Given the description of an element on the screen output the (x, y) to click on. 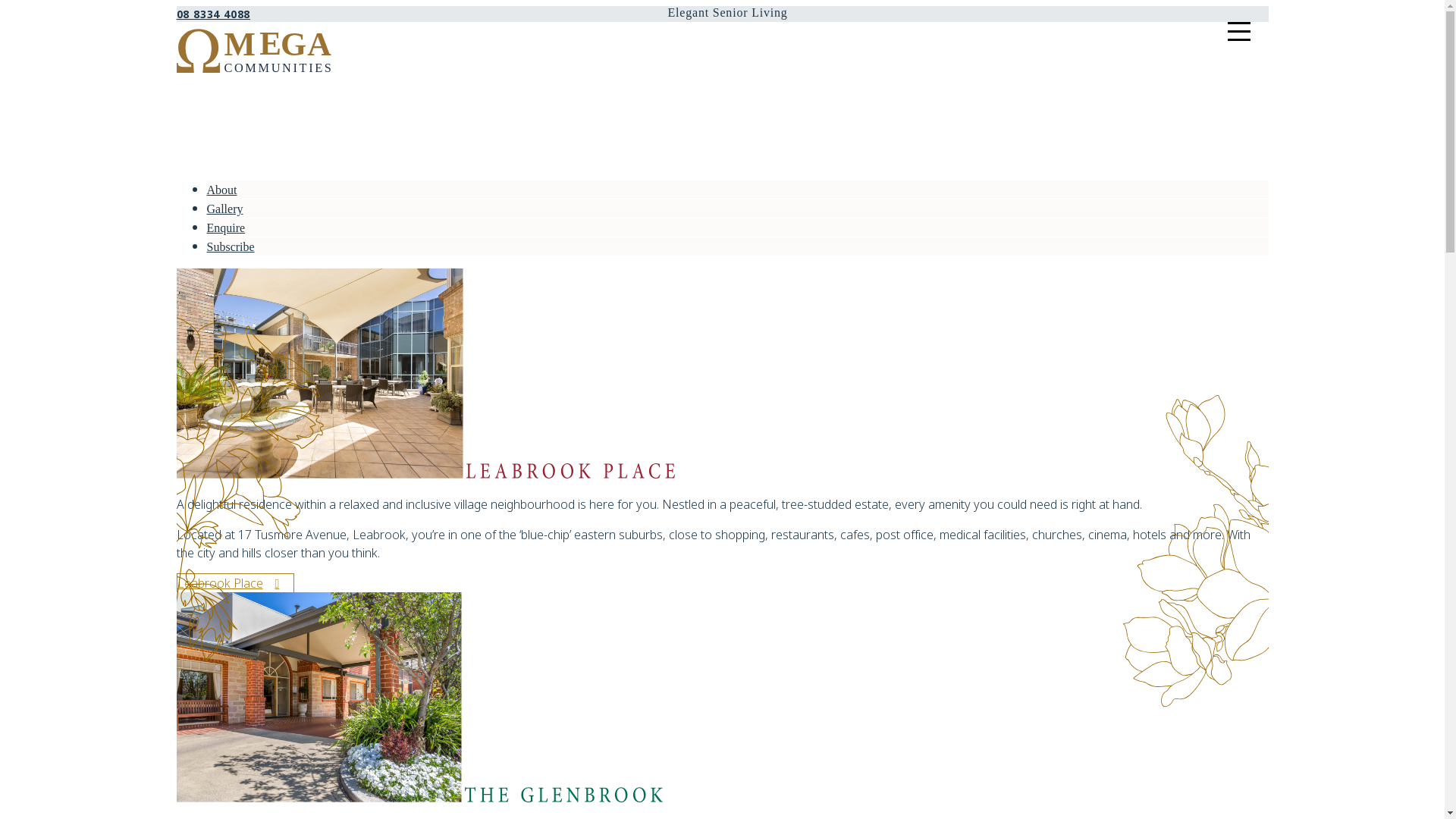
08 8334 4088 Element type: text (212, 13)
Subscribe Element type: text (230, 246)
Enquire Element type: text (225, 227)
Leabrook Place Element type: text (234, 583)
About Element type: text (221, 189)
Gallery Element type: text (224, 208)
